Given the description of an element on the screen output the (x, y) to click on. 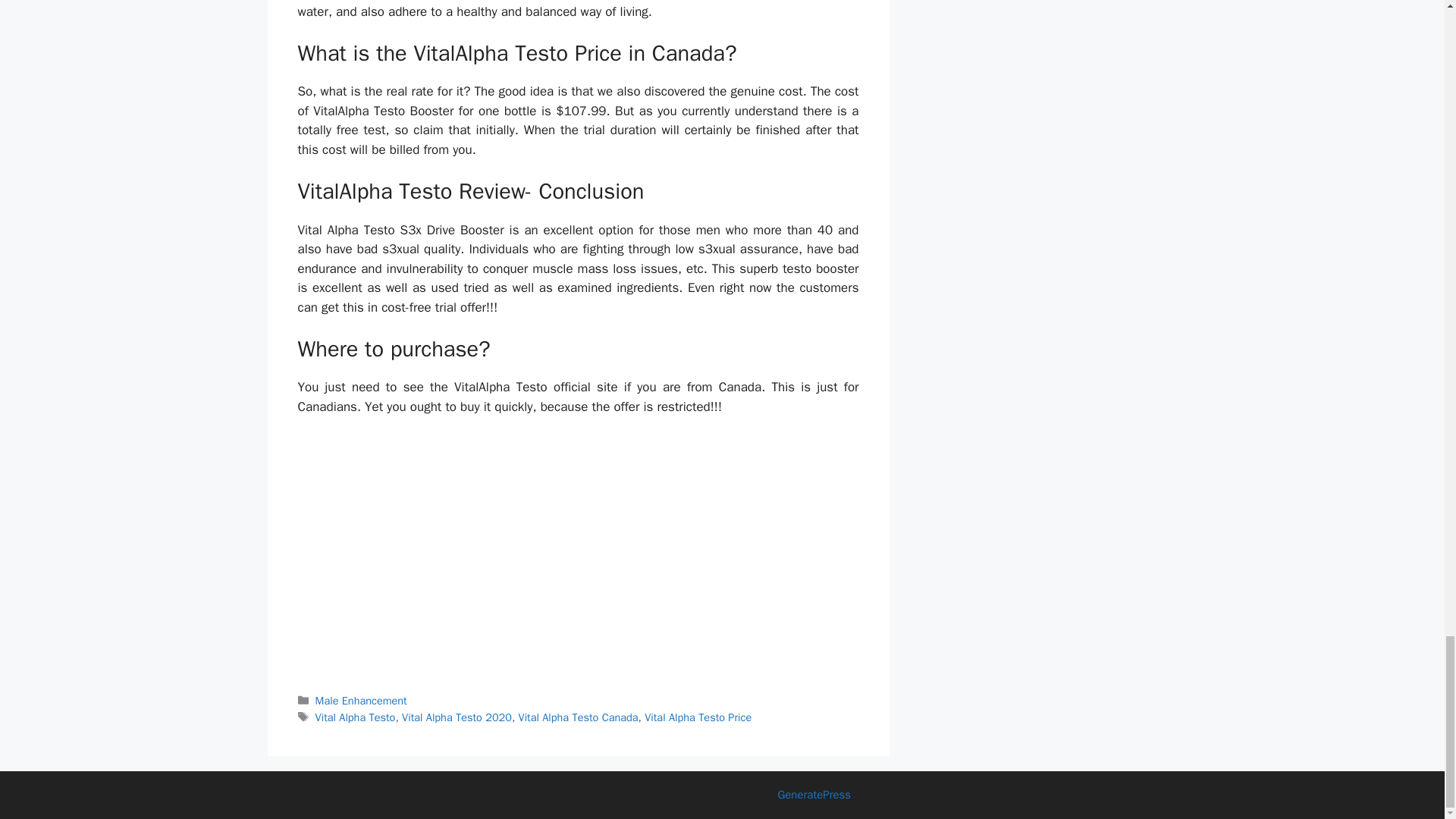
Vital Alpha Testo (355, 716)
Male Enhancement (361, 700)
Vital Alpha Testo Price (698, 716)
Vital Alpha Testo 2020 (456, 716)
Vital Alpha Testo Canada (578, 716)
